Given the description of an element on the screen output the (x, y) to click on. 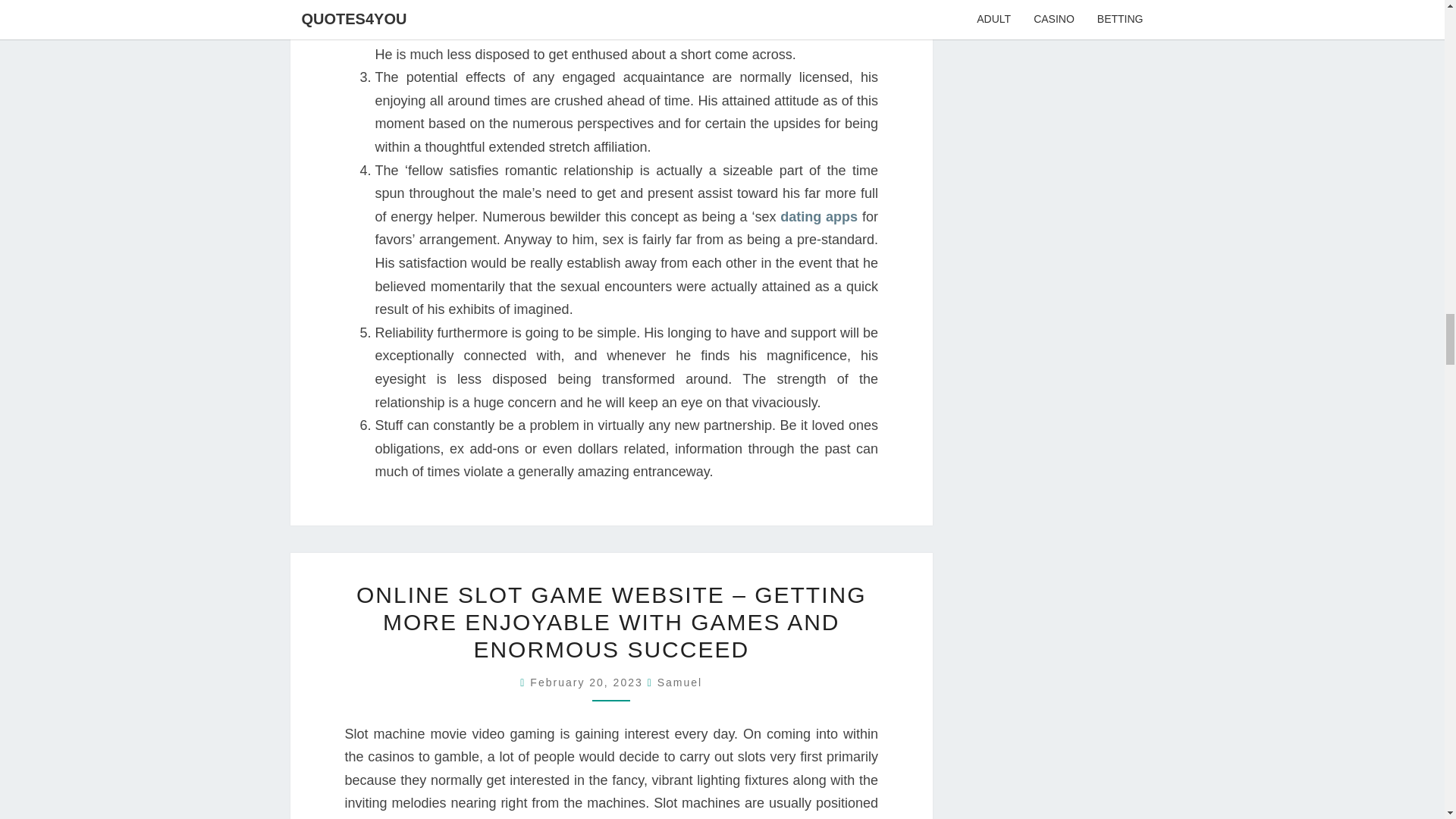
Samuel (679, 682)
February 20, 2023 (587, 682)
4:48 am (587, 682)
dating apps (818, 216)
View all posts by Samuel (679, 682)
